Given the description of an element on the screen output the (x, y) to click on. 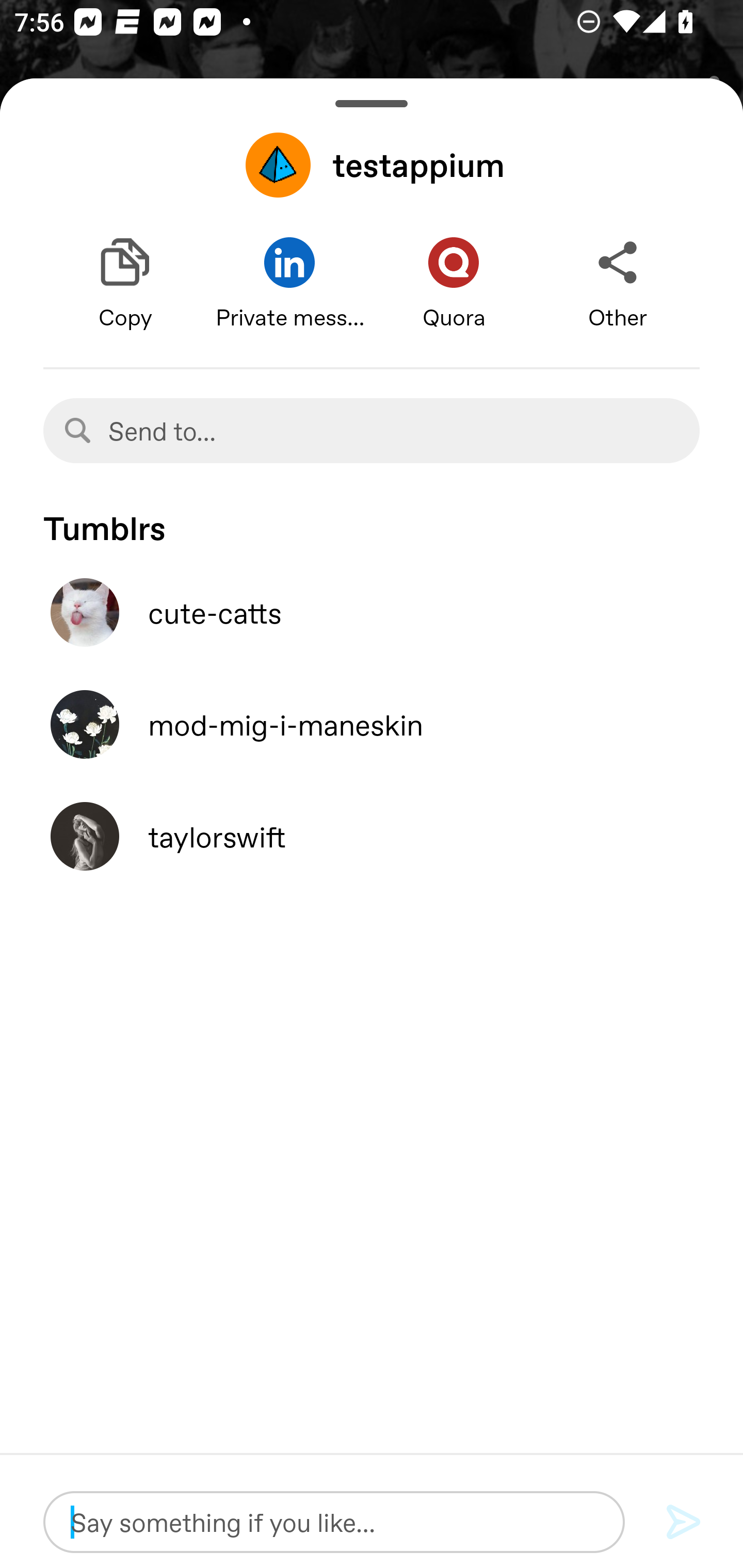
testappium (371, 164)
Copy (125, 284)
Private message (289, 284)
Quora (453, 284)
Other (617, 284)
Send to… (371, 430)
Tumblrs (371, 518)
cute-catts (371, 611)
mod-mig-i-maneskin (371, 723)
taylorswift (371, 836)
Send (683, 1522)
Say something if you like… (333, 1521)
